Given the description of an element on the screen output the (x, y) to click on. 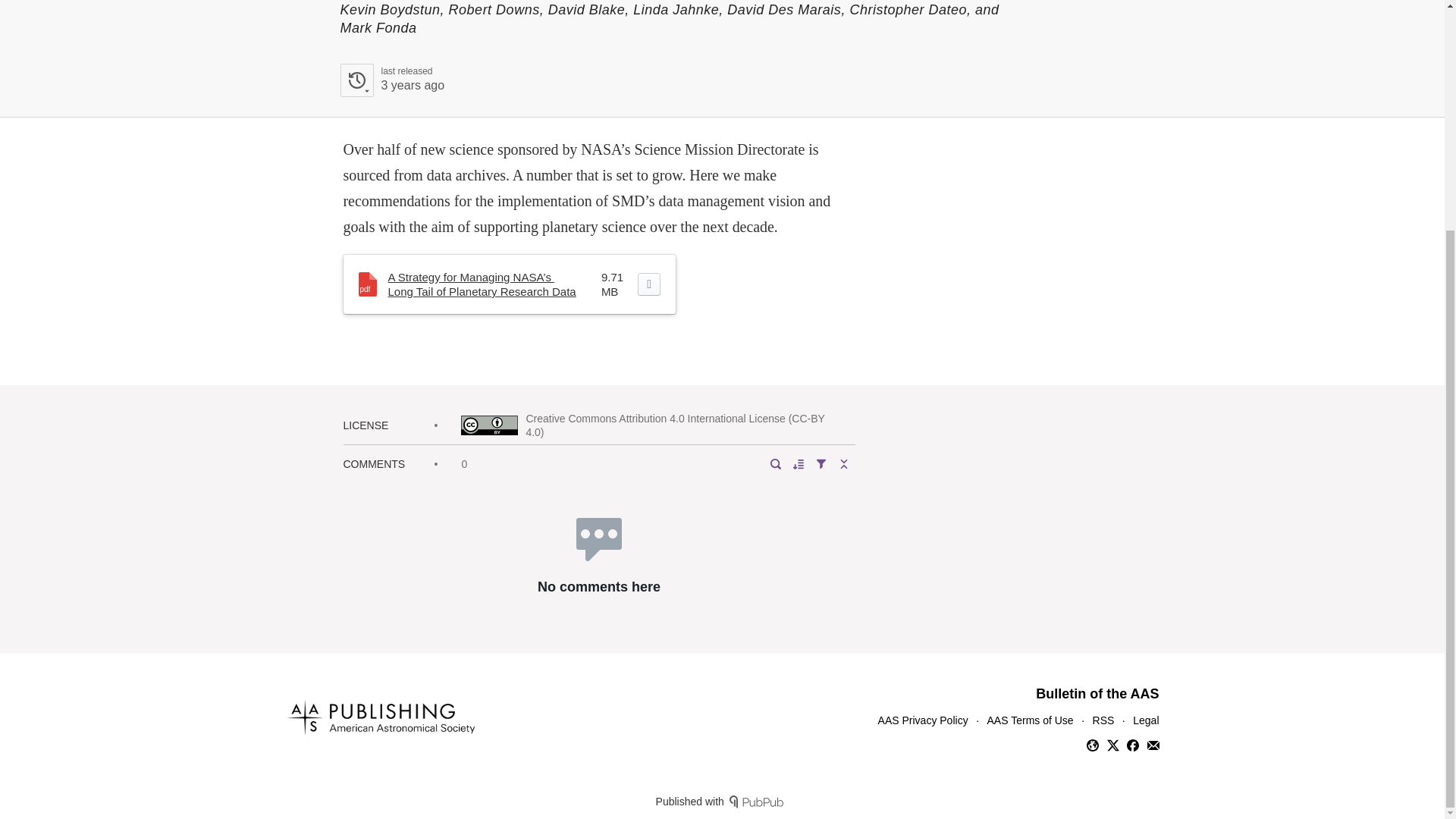
AAS Terms of Use (1030, 720)
2021-04-08 21:16 (412, 84)
Bulletin of the AAS (391, 80)
AAS Privacy Policy (1096, 693)
